Given the description of an element on the screen output the (x, y) to click on. 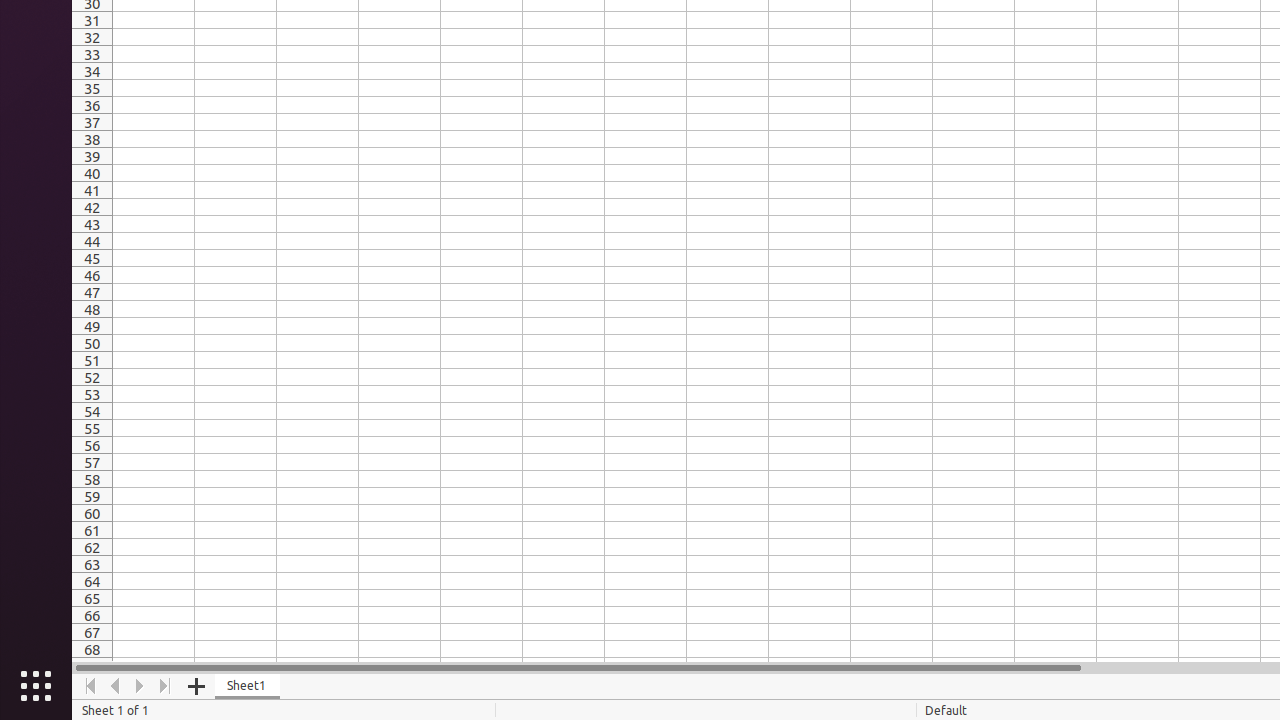
Sheet1 Element type: page-tab (247, 686)
